Given the description of an element on the screen output the (x, y) to click on. 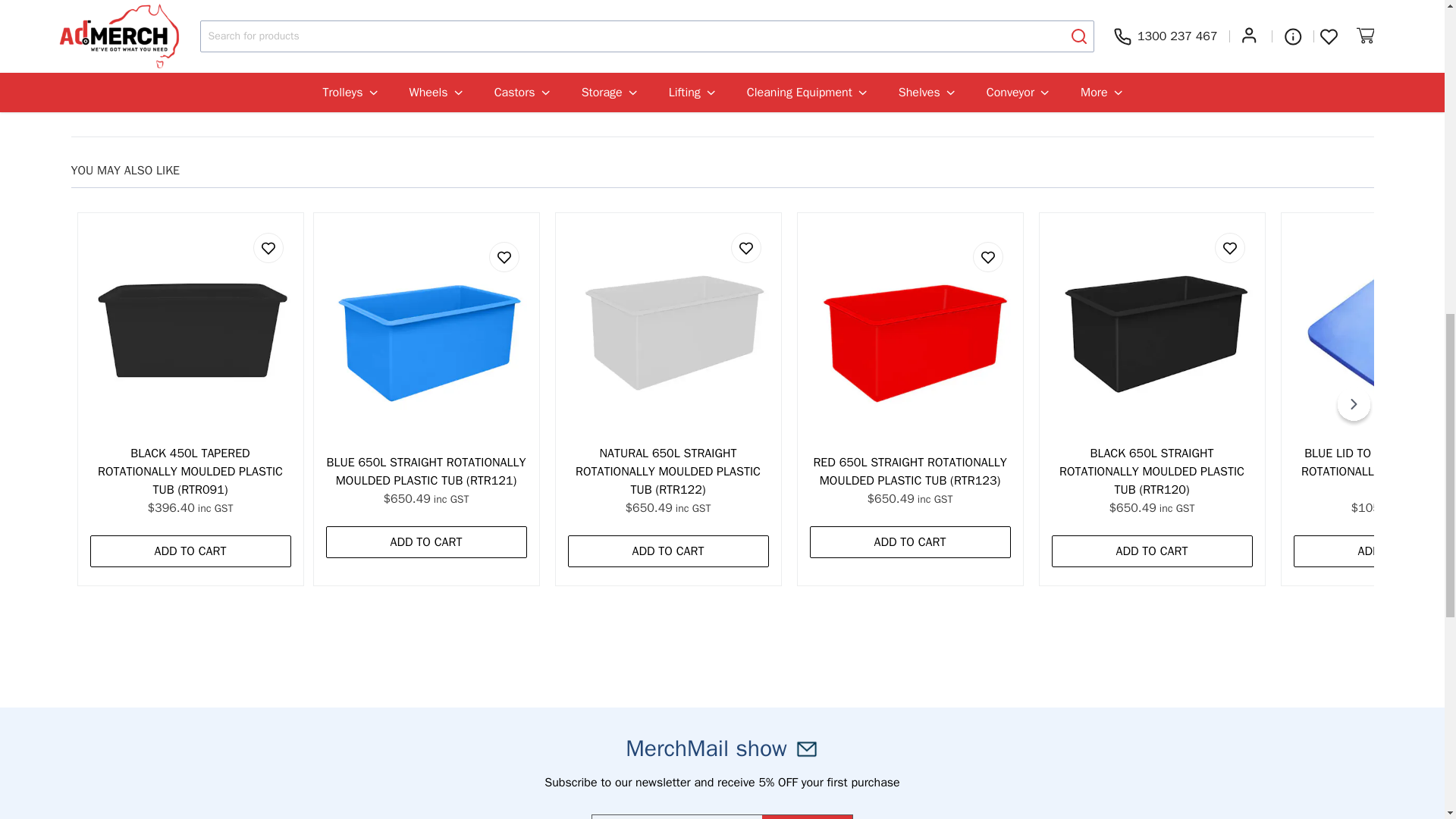
ADD TO CART (1151, 551)
ADD TO CART (909, 541)
ADD TO CART (188, 551)
ADD TO CART (667, 551)
ADD TO CART (426, 541)
DESCRIPTION (722, 74)
